Given the description of an element on the screen output the (x, y) to click on. 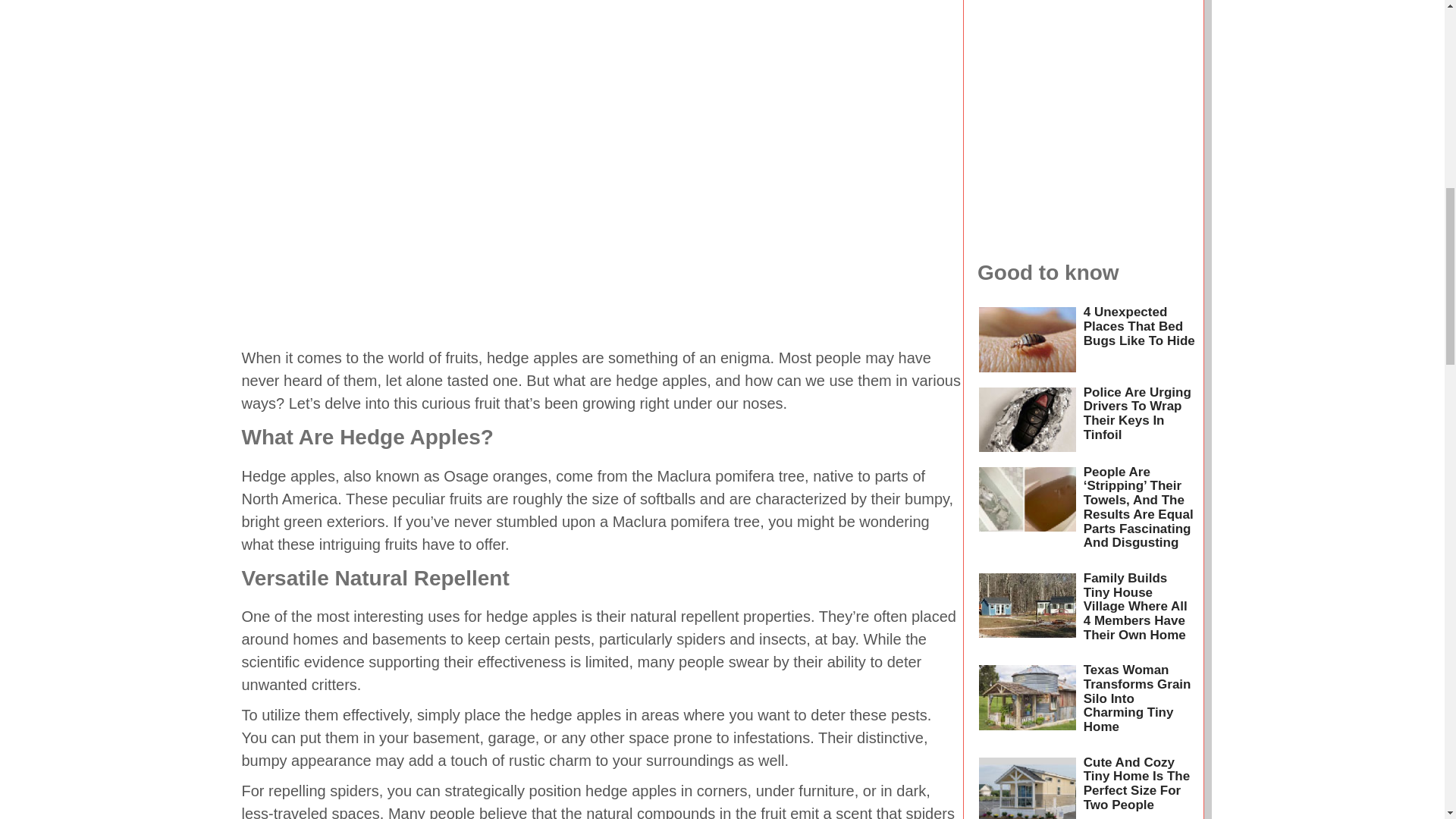
Cute And Cozy Tiny Home Is The Perfect Size For Two People (1136, 783)
Read more (1027, 419)
Advertisement (1083, 20)
Read more (1027, 512)
Read more (1027, 784)
Texas Woman Transforms Grain Silo Into Charming Tiny Home (1137, 697)
Read more (1027, 339)
4 Unexpected Places That Bed Bugs Like To Hide (1139, 325)
Police Are Urging Drivers To Wrap Their Keys In Tinfoil (1137, 413)
